Given the description of an element on the screen output the (x, y) to click on. 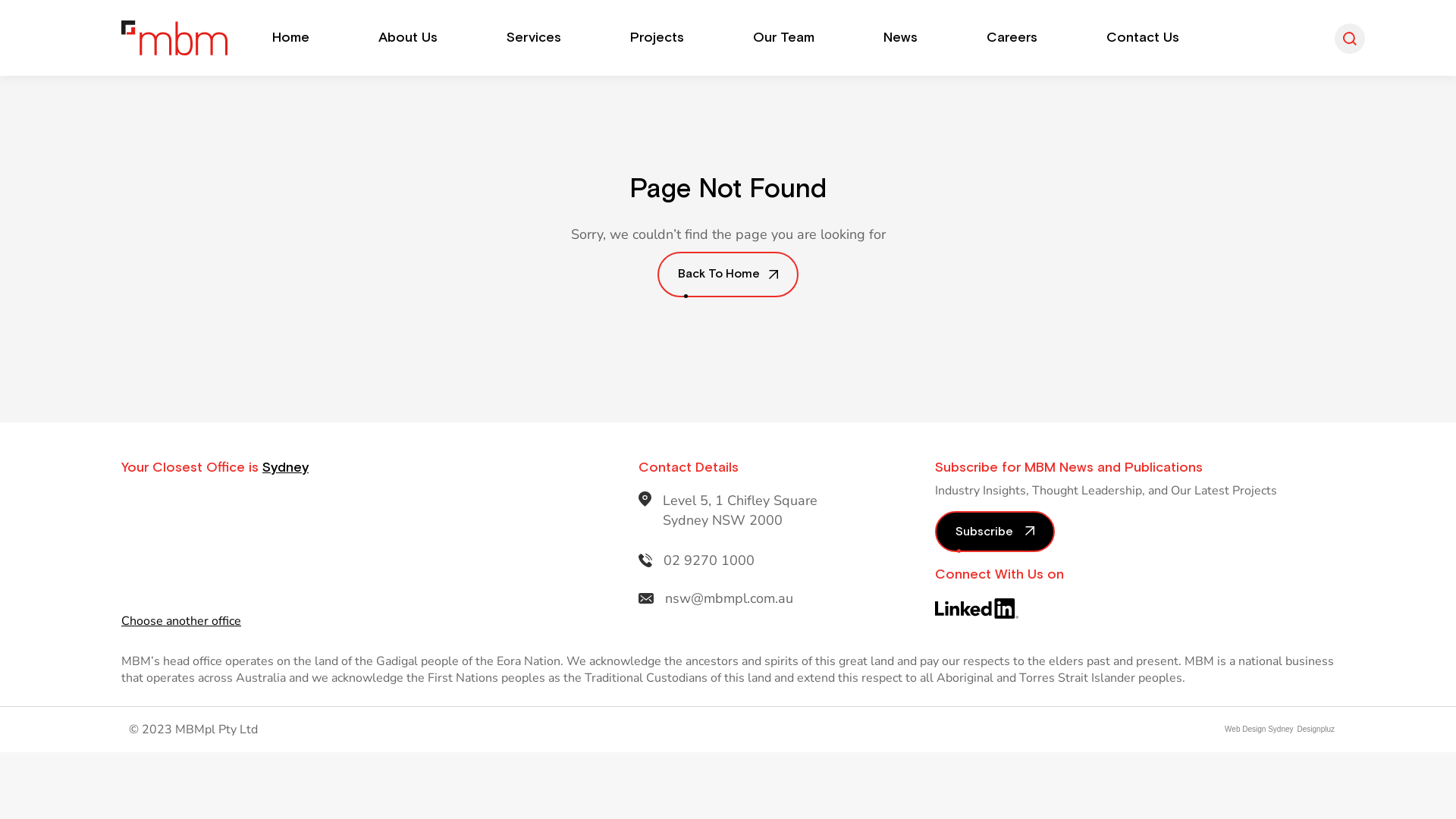
Go! Element type: text (23, 16)
News Element type: text (900, 37)
Back To Home Element type: text (727, 274)
Contact Us Element type: text (1142, 37)
Services Element type: text (533, 37)
Web Design Sydney Element type: text (1258, 729)
Subscribe Element type: text (994, 531)
02 9270 1000 Element type: text (708, 559)
Projects Element type: text (657, 37)
About Us Element type: text (407, 37)
Careers Element type: text (1011, 37)
nsw@mbmpl.com.au Element type: text (729, 597)
Home Element type: text (290, 37)
Our Team Element type: text (783, 37)
Designpluz Element type: text (1313, 729)
